Given the description of an element on the screen output the (x, y) to click on. 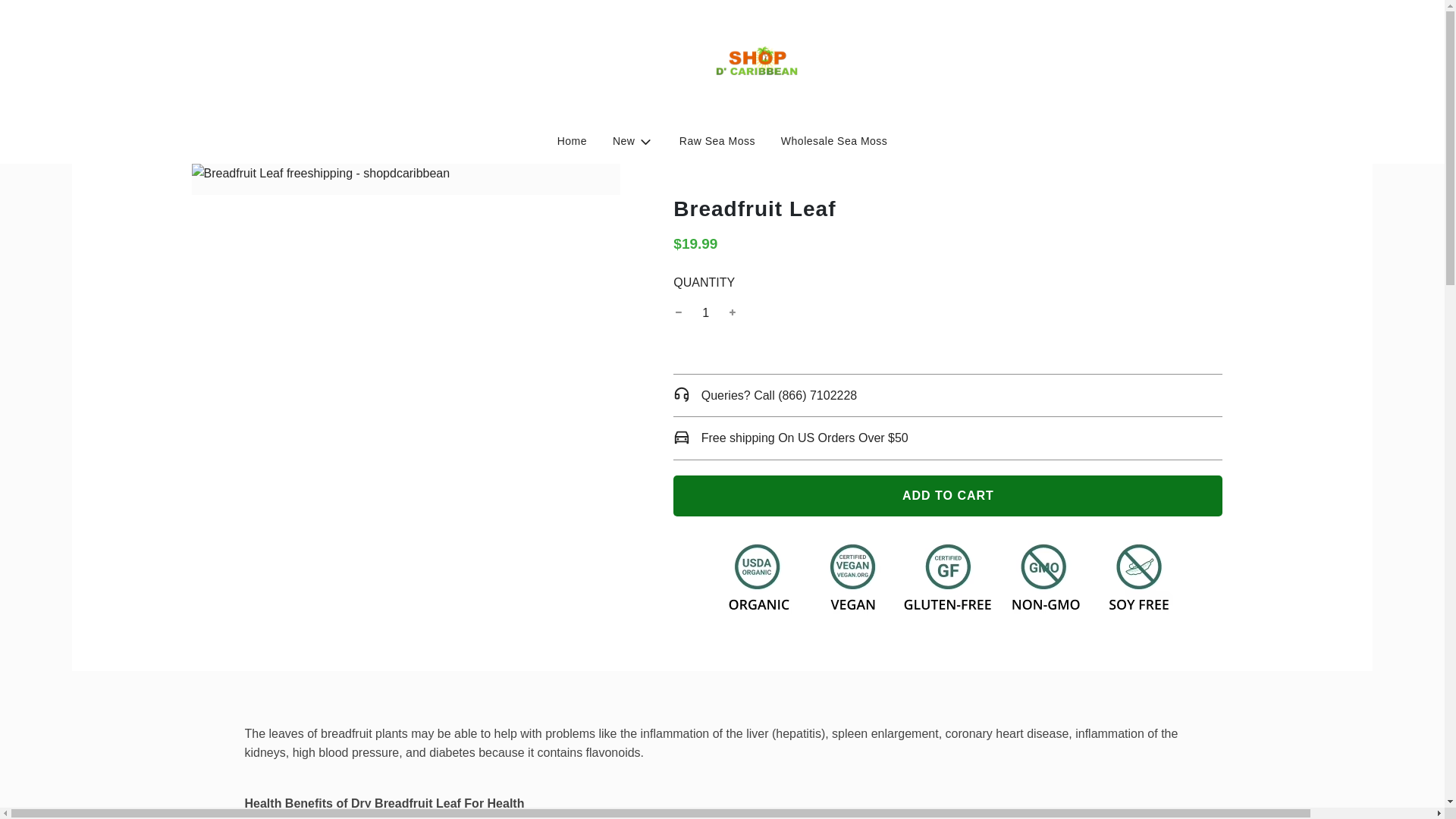
Home (572, 140)
1 (705, 312)
Wholesale Sea Moss (947, 495)
Raw Sea Moss (834, 140)
New (717, 140)
